Given the description of an element on the screen output the (x, y) to click on. 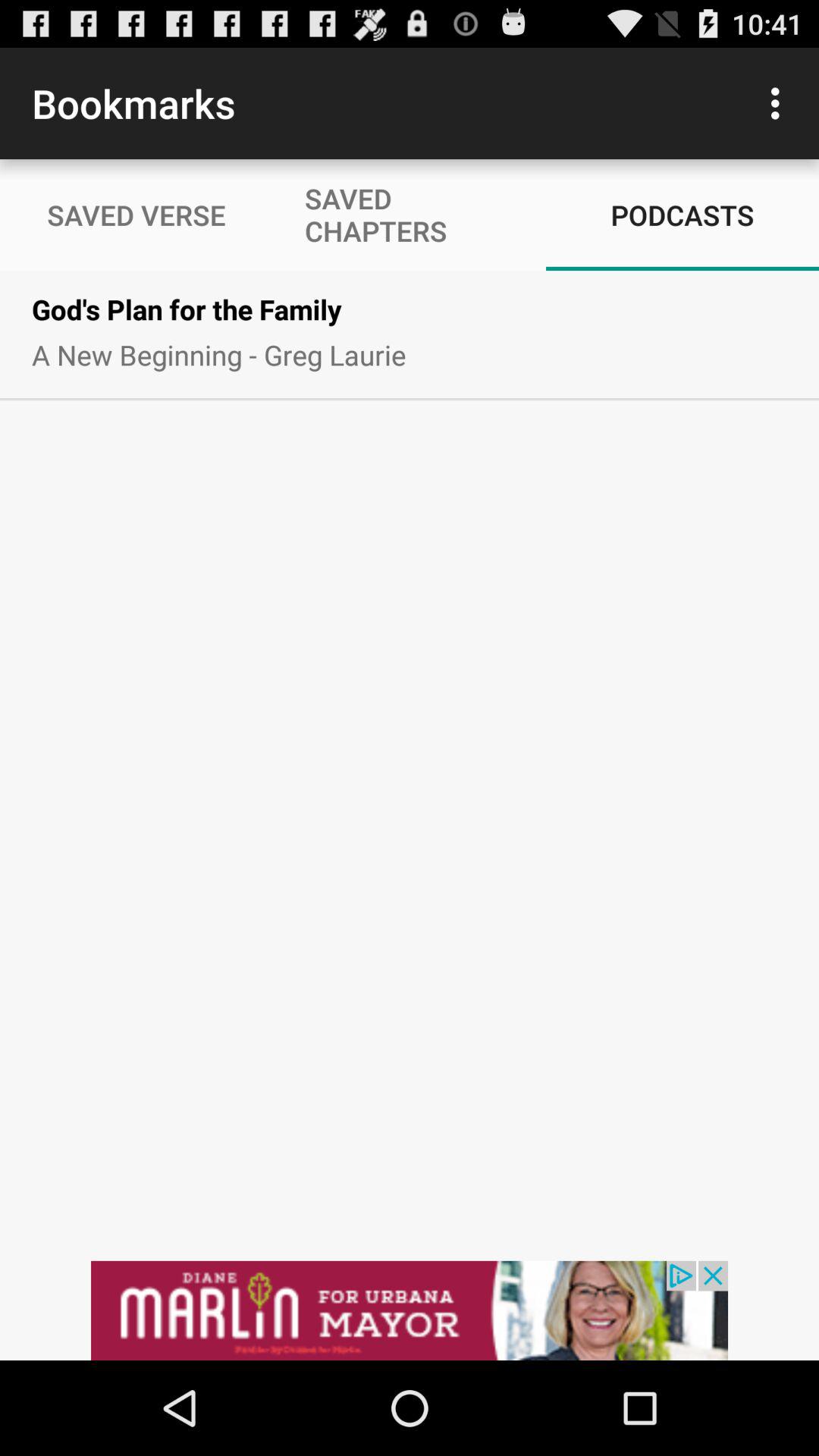
advertisement banner (409, 1310)
